Given the description of an element on the screen output the (x, y) to click on. 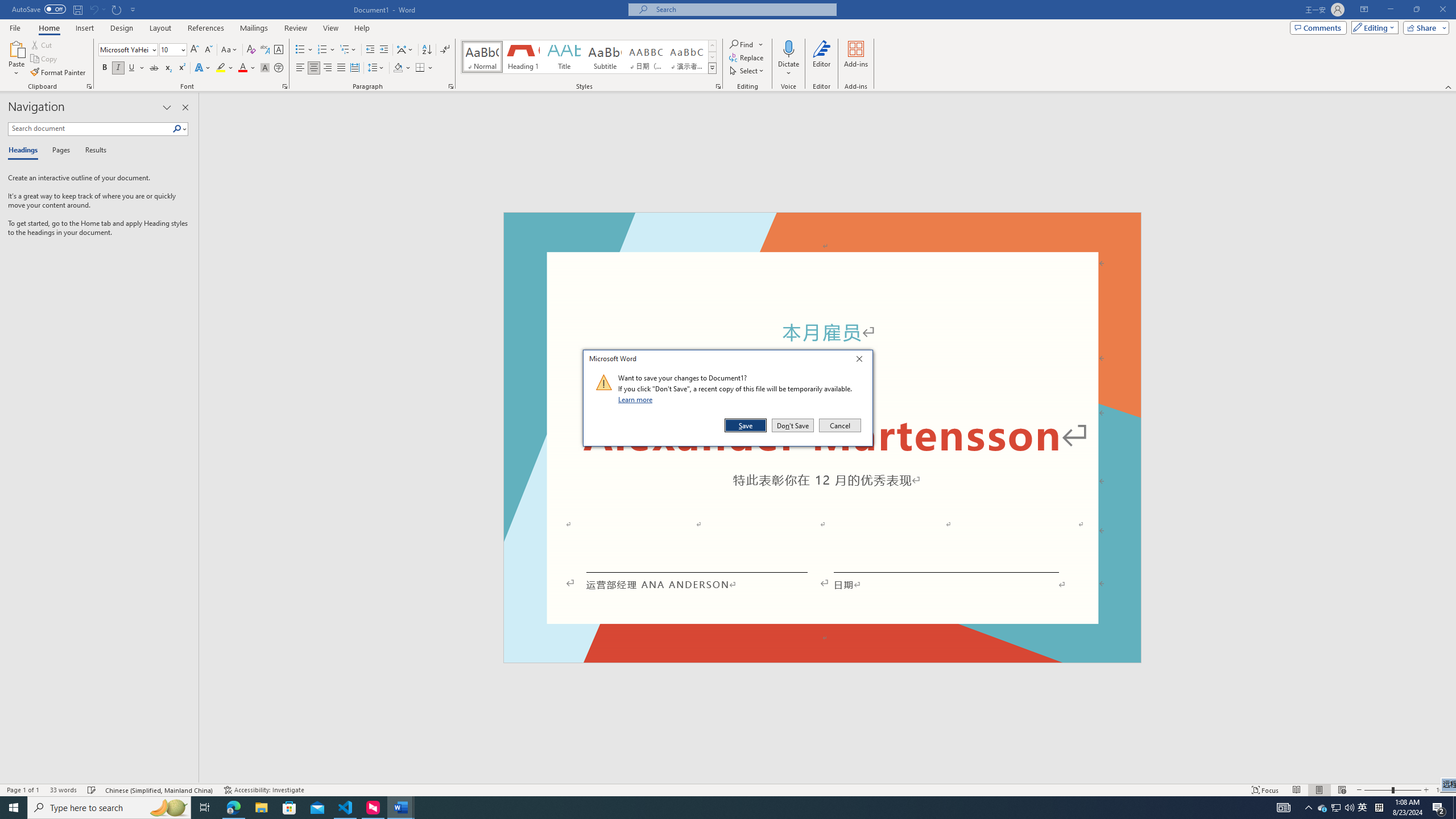
Class: MsoCommandBar (728, 789)
